Given the description of an element on the screen output the (x, y) to click on. 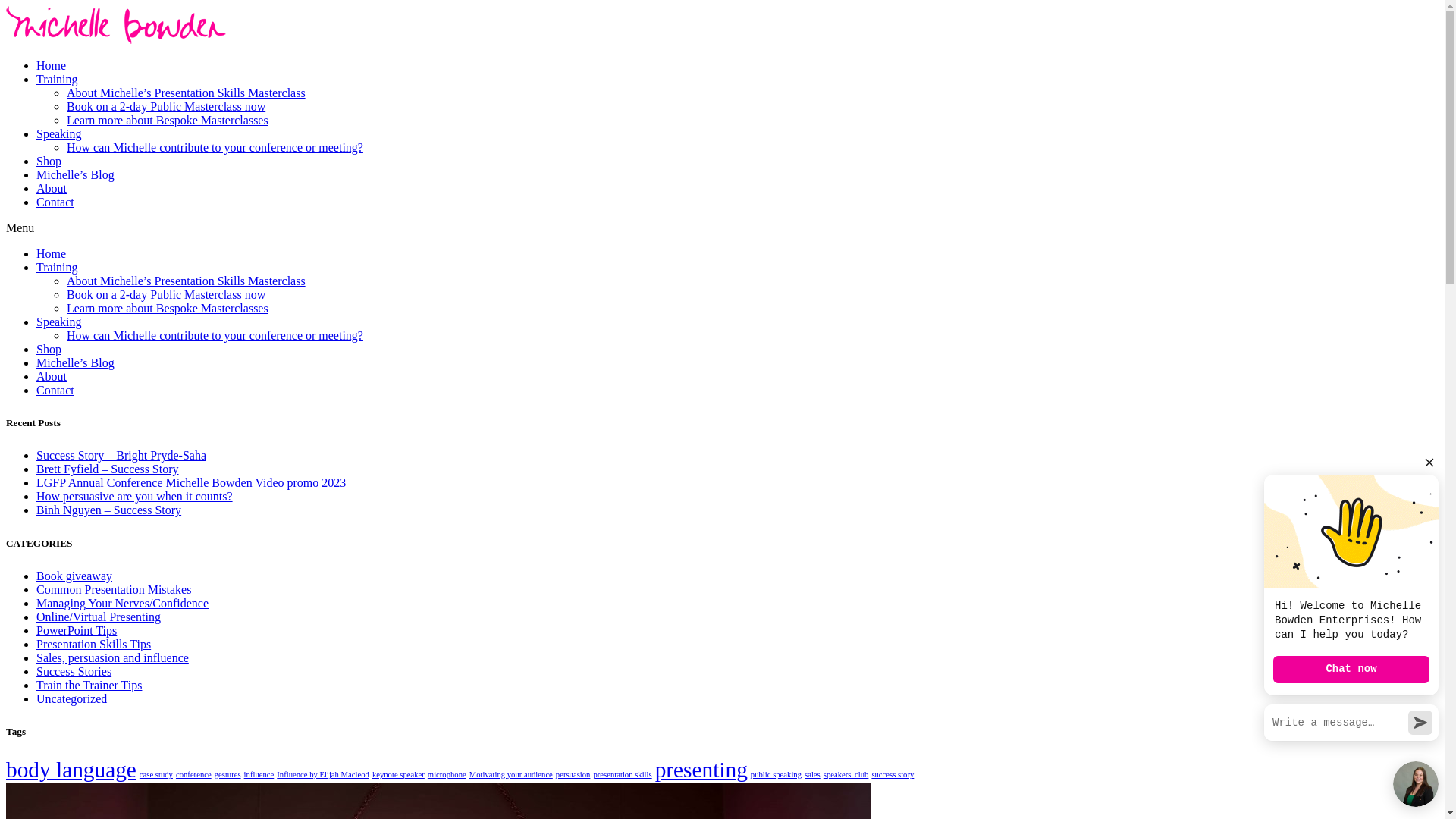
About Element type: text (51, 188)
Book giveaway Element type: text (74, 575)
microphone Element type: text (446, 774)
Speaking Element type: text (58, 321)
LGFP Annual Conference Michelle Bowden Video promo 2023 Element type: text (190, 482)
persuasion Element type: text (572, 774)
Training Element type: text (57, 266)
conference Element type: text (193, 774)
Speaking Element type: text (58, 133)
Home Element type: text (50, 253)
Motivating your audience Element type: text (510, 774)
Influence by Elijah Macleod Element type: text (322, 774)
Book on a 2-day Public Masterclass now Element type: text (165, 106)
Sales, persuasion and influence Element type: text (112, 657)
Training Element type: text (57, 78)
Learn more about Bespoke Masterclasses Element type: text (167, 119)
influence Element type: text (259, 774)
Contact Element type: text (55, 389)
Train the Trainer Tips Element type: text (88, 684)
body language Element type: text (71, 769)
Online/Virtual Presenting Element type: text (98, 616)
How can Michelle contribute to your conference or meeting? Element type: text (214, 147)
Shop Element type: text (48, 348)
Home Element type: text (50, 65)
presenting Element type: text (701, 769)
Managing Your Nerves/Confidence Element type: text (122, 602)
success story Element type: text (892, 774)
About Element type: text (51, 376)
Presentation Skills Tips Element type: text (93, 643)
case study Element type: text (155, 774)
Success Stories Element type: text (73, 671)
gestures Element type: text (227, 774)
Contact Element type: text (55, 201)
Shop Element type: text (48, 160)
How can Michelle contribute to your conference or meeting? Element type: text (214, 335)
Learn more about Bespoke Masterclasses Element type: text (167, 307)
sales Element type: text (812, 774)
public speaking Element type: text (775, 774)
How persuasive are you when it counts? Element type: text (134, 495)
Book on a 2-day Public Masterclass now Element type: text (165, 294)
keynote speaker Element type: text (398, 774)
speakers' club Element type: text (846, 774)
Uncategorized Element type: text (71, 698)
presentation skills Element type: text (622, 774)
PowerPoint Tips Element type: text (76, 630)
Common Presentation Mistakes Element type: text (113, 589)
